Given the description of an element on the screen output the (x, y) to click on. 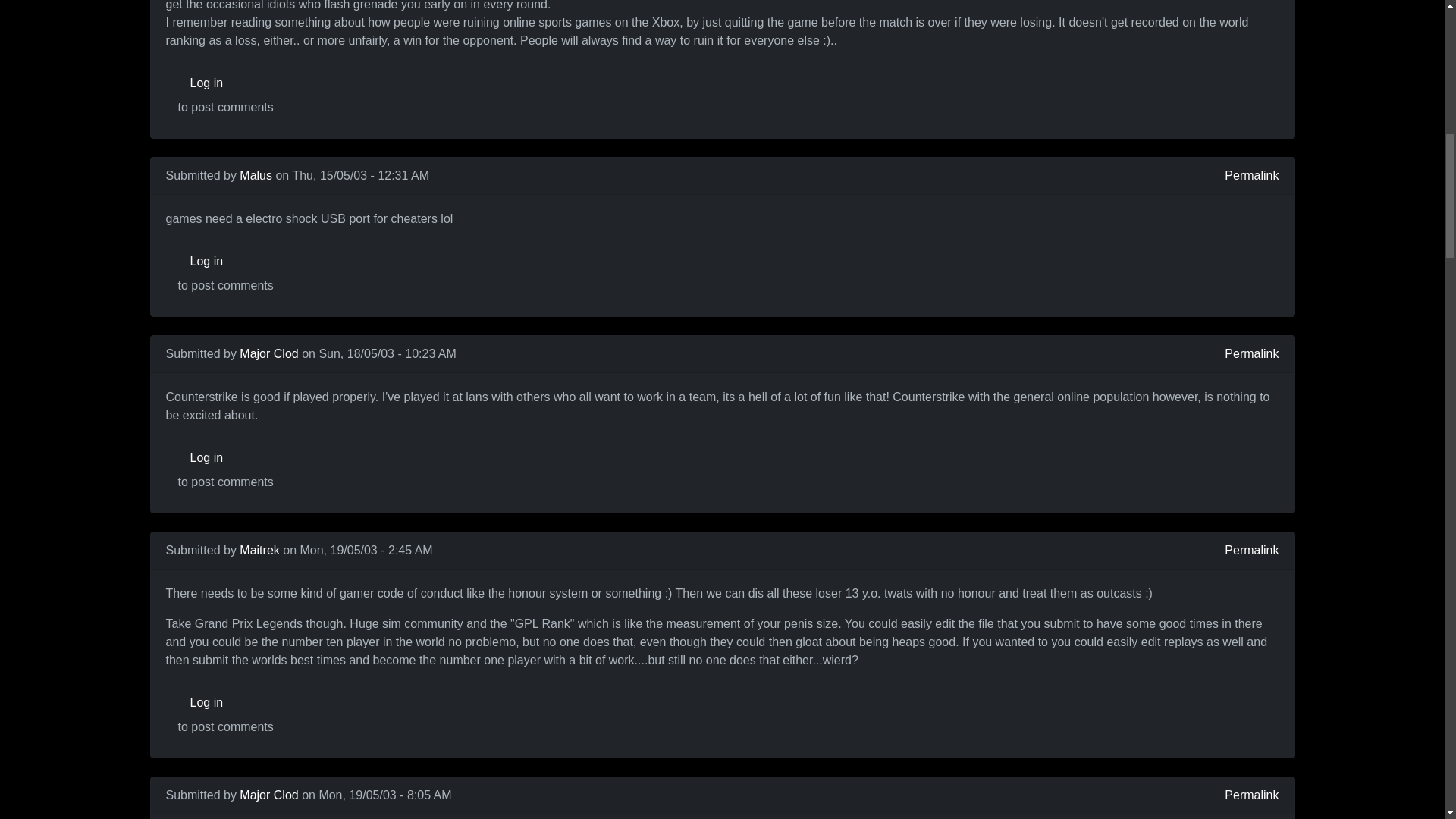
View user profile. (256, 174)
Permalink (1251, 176)
Log in (225, 261)
Log in (225, 458)
Permalink (1251, 353)
Malus (256, 174)
View user profile. (269, 794)
View user profile. (269, 353)
Maitrek (259, 549)
View user profile. (259, 549)
Major Clod (269, 353)
Permalink (1251, 550)
Log in (225, 82)
